Given the description of an element on the screen output the (x, y) to click on. 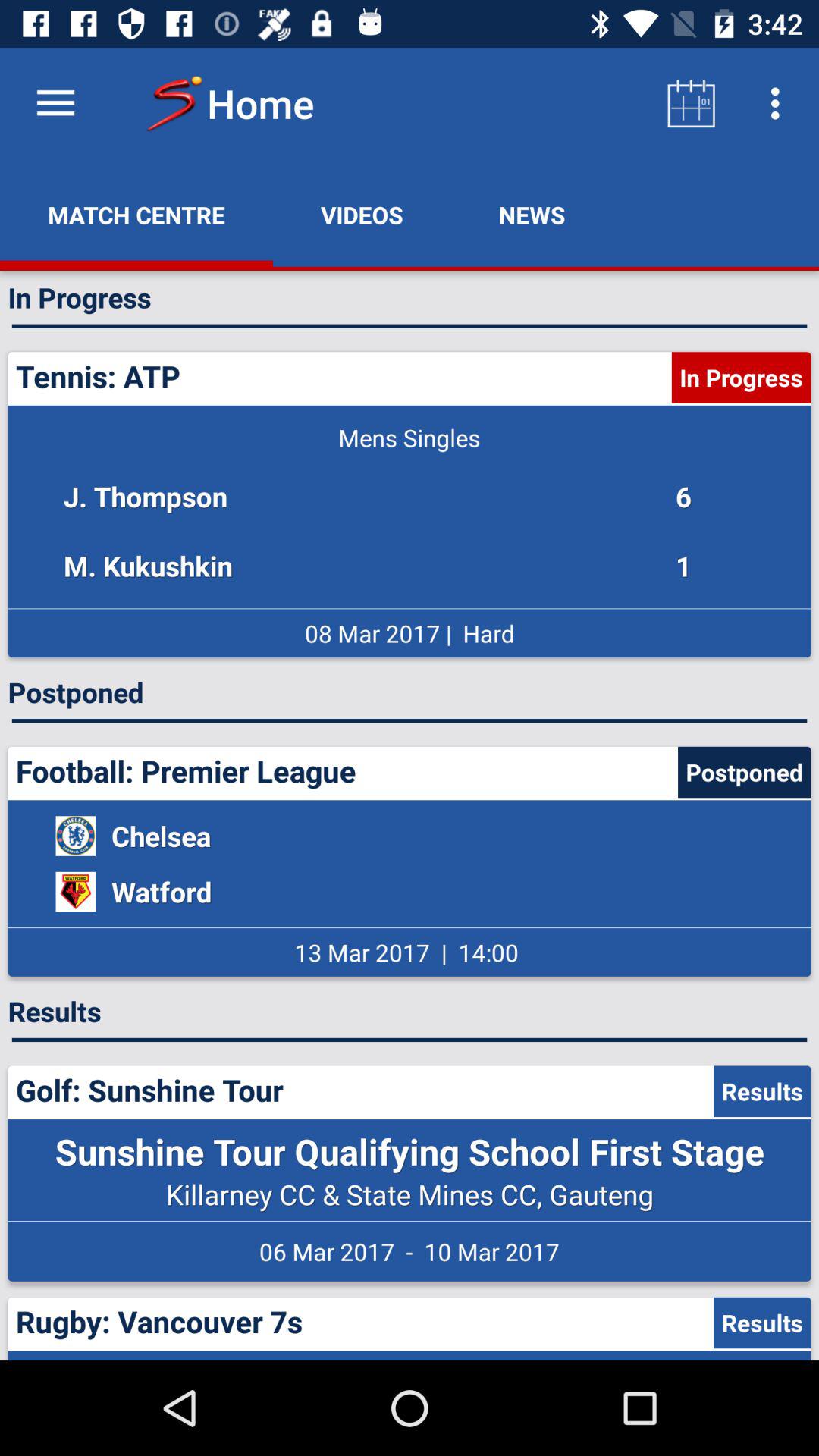
press for main menu options (55, 103)
